Given the description of an element on the screen output the (x, y) to click on. 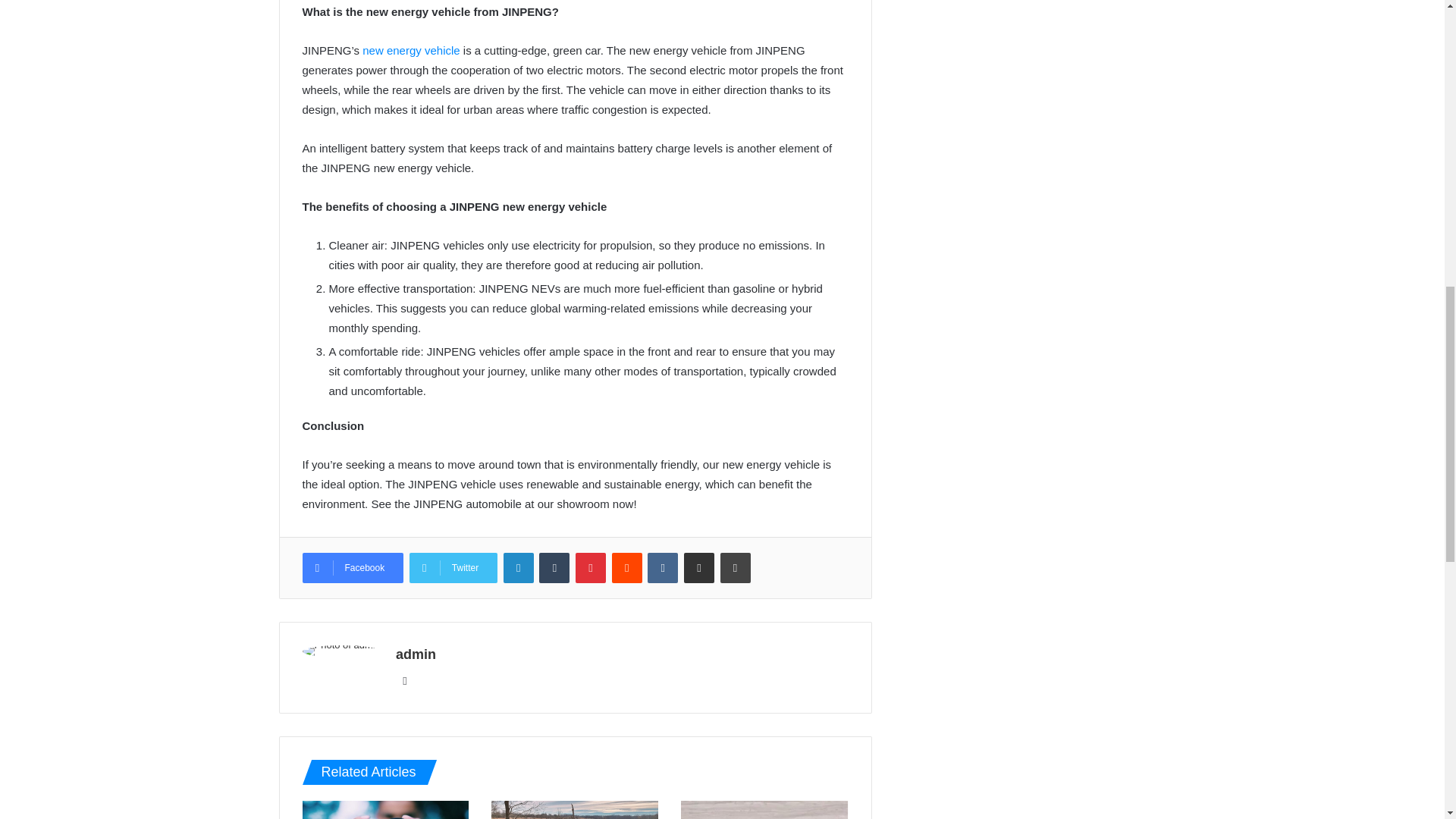
Pinterest (590, 567)
Pinterest (590, 567)
Share via Email (699, 567)
Reddit (626, 567)
VKontakte (662, 567)
Print (735, 567)
Website (404, 680)
Twitter (453, 567)
Facebook (352, 567)
Facebook (352, 567)
VKontakte (662, 567)
Tumblr (553, 567)
LinkedIn (518, 567)
admin (415, 654)
Twitter (453, 567)
